Given the description of an element on the screen output the (x, y) to click on. 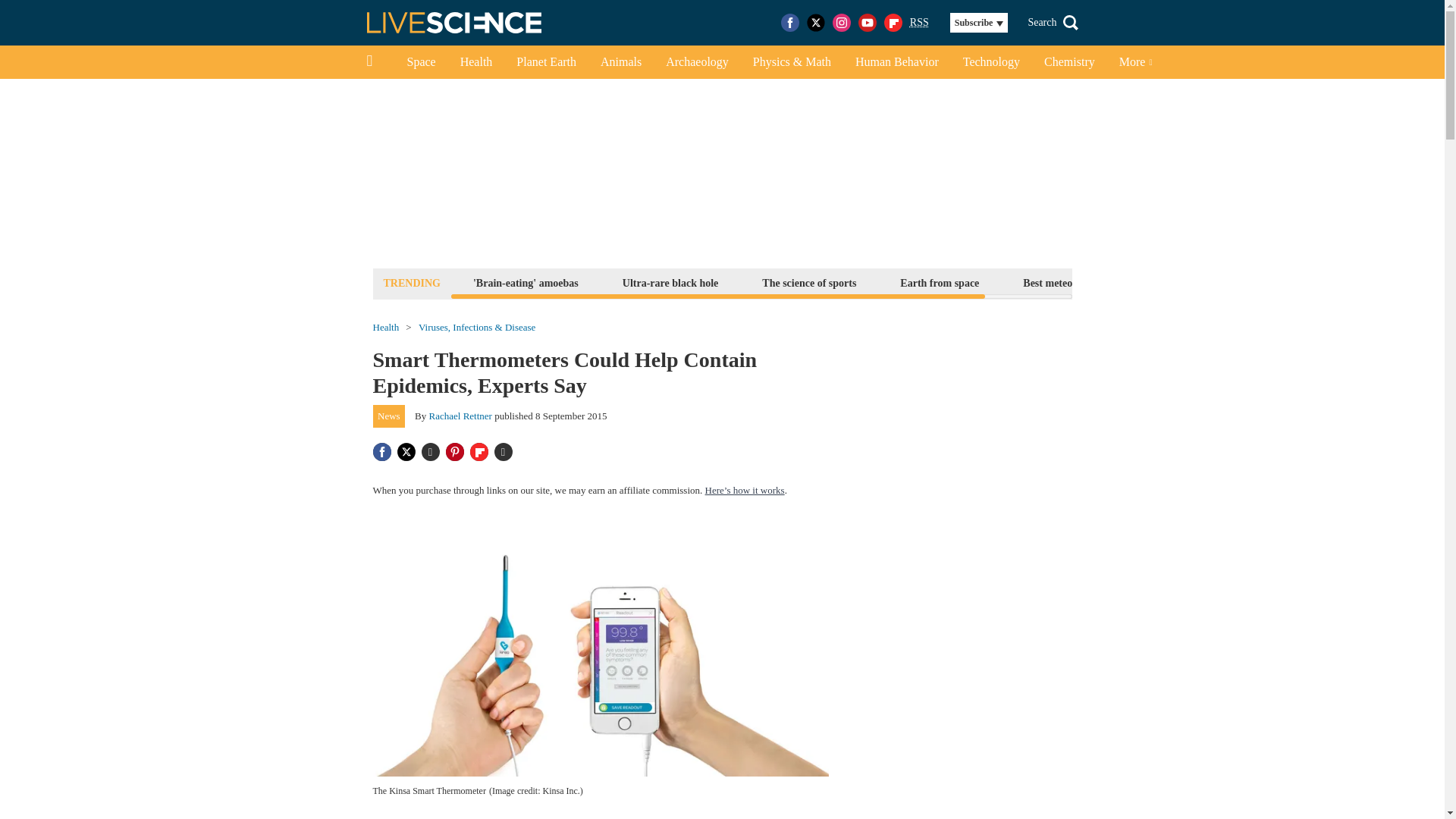
News (389, 415)
Health (476, 61)
Really Simple Syndication (919, 21)
Archaeology (697, 61)
Earth from space (939, 282)
Human Behavior (896, 61)
Rachael Rettner (460, 415)
Animals (620, 61)
Best meteor showers of 2024 (1086, 282)
Chemistry (1069, 61)
RSS (919, 22)
Space (420, 61)
Ultra-rare black hole (670, 282)
'Brain-eating' amoebas (525, 282)
Technology (991, 61)
